Given the description of an element on the screen output the (x, y) to click on. 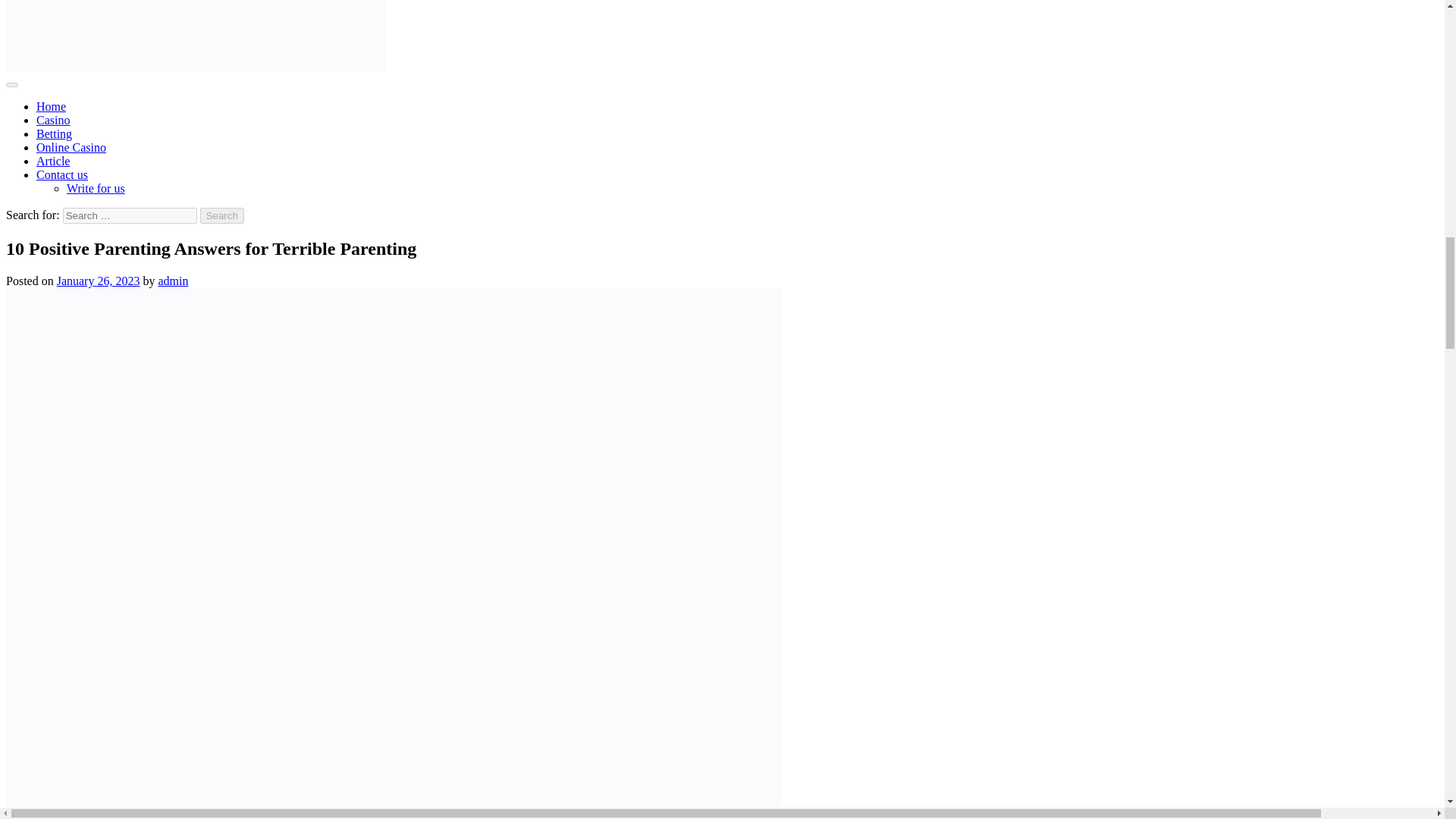
Search (222, 215)
Casino (52, 119)
Home (50, 106)
Search (222, 215)
Online Casino (71, 146)
January 26, 2023 (97, 280)
admin (172, 280)
Write for us (95, 187)
Betting (53, 133)
Contact us (61, 174)
Article (52, 160)
Search (222, 215)
